Given the description of an element on the screen output the (x, y) to click on. 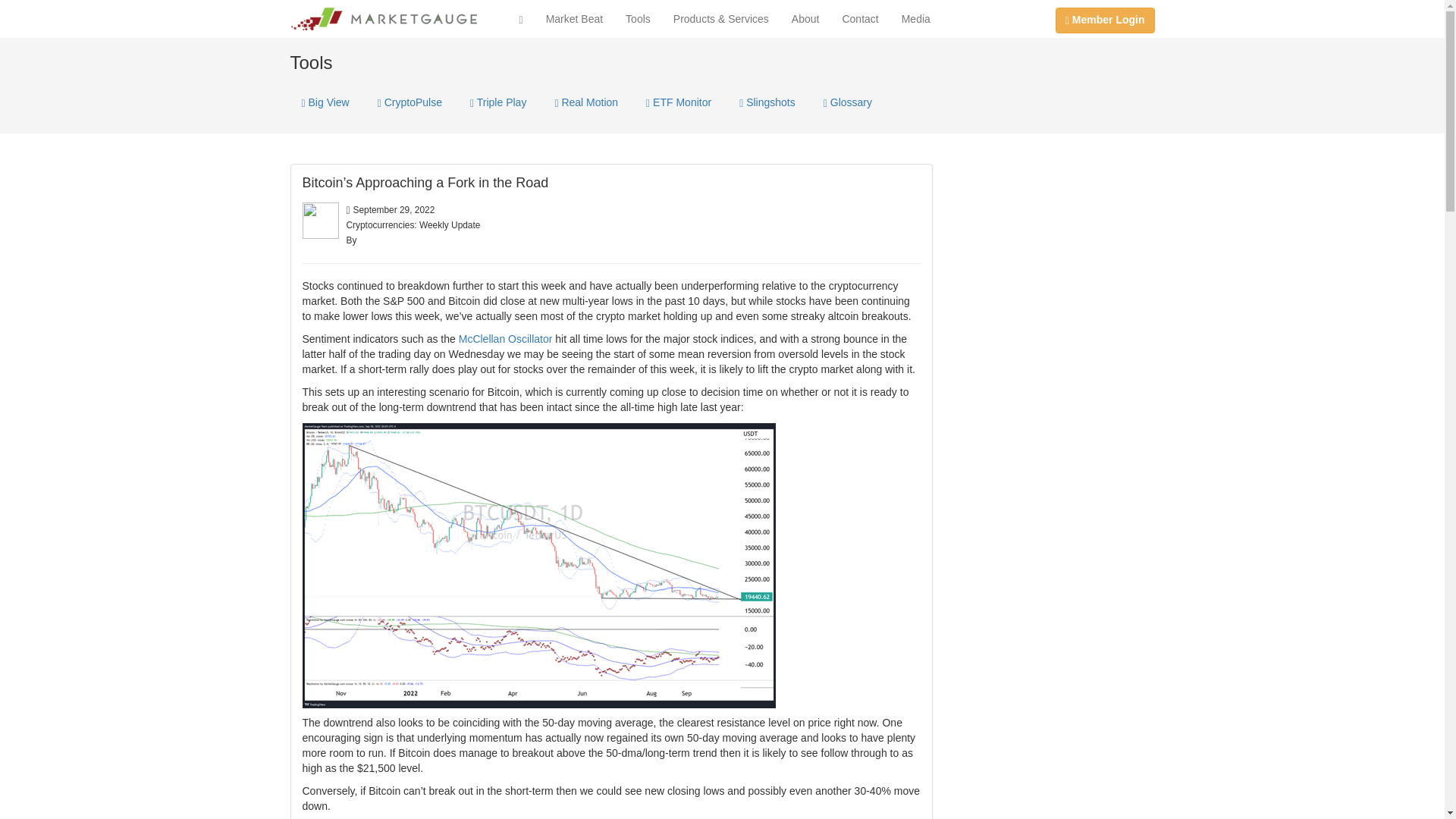
Big View (324, 102)
Triple Play (497, 102)
Media (915, 18)
McClellan Oscillator (505, 338)
Member Login (1104, 20)
MarketGauge.com (383, 18)
Slingshots (767, 102)
Contact (859, 18)
Real Motion (585, 102)
Tools (638, 18)
